Given the description of an element on the screen output the (x, y) to click on. 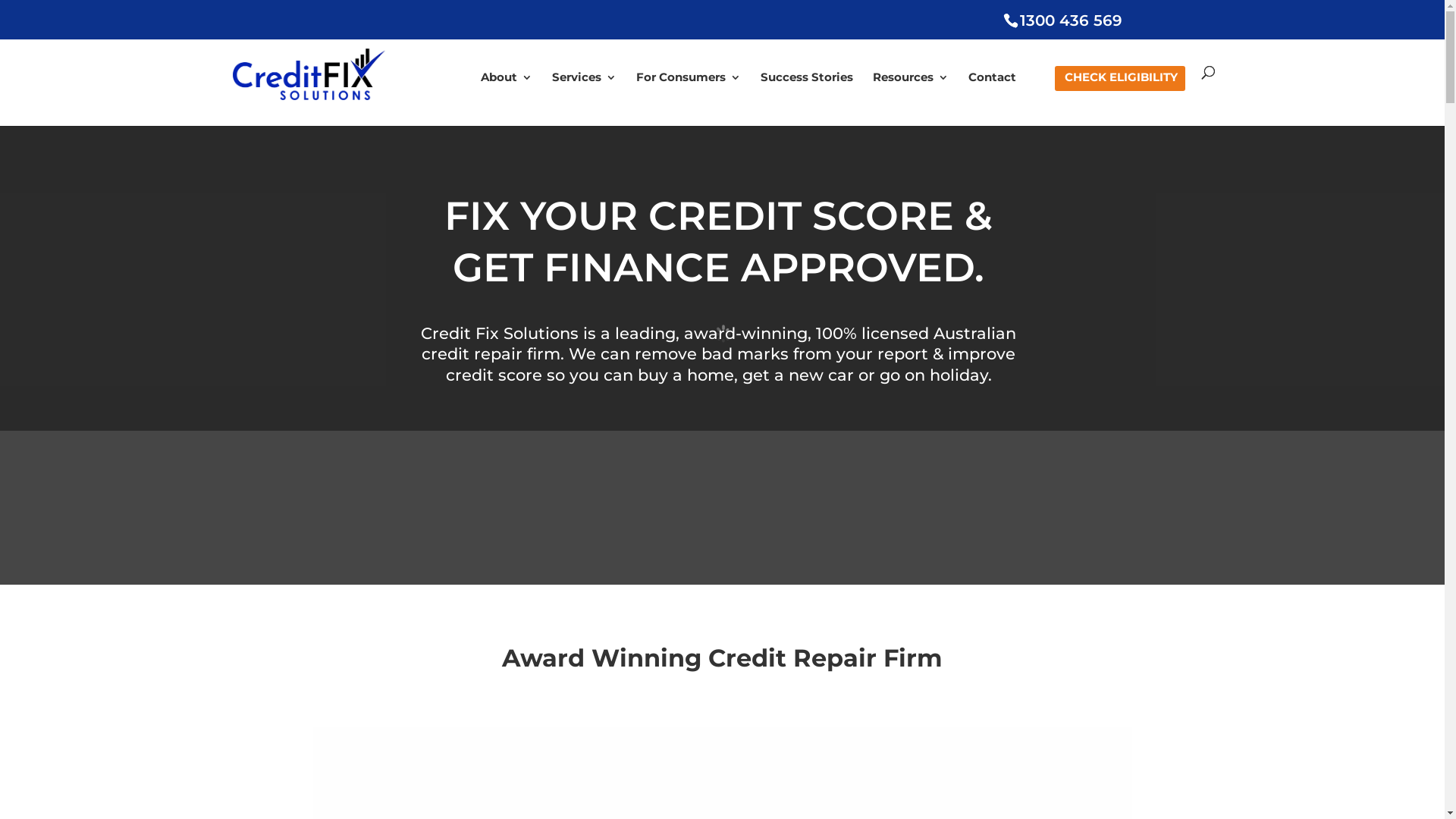
Resources Element type: text (909, 98)
Contact Element type: text (991, 98)
CHECK ELIGIBILITY Element type: text (1120, 98)
About Element type: text (506, 98)
Services Element type: text (584, 98)
For Consumers Element type: text (687, 98)
Success Stories Element type: text (805, 98)
